Given the description of an element on the screen output the (x, y) to click on. 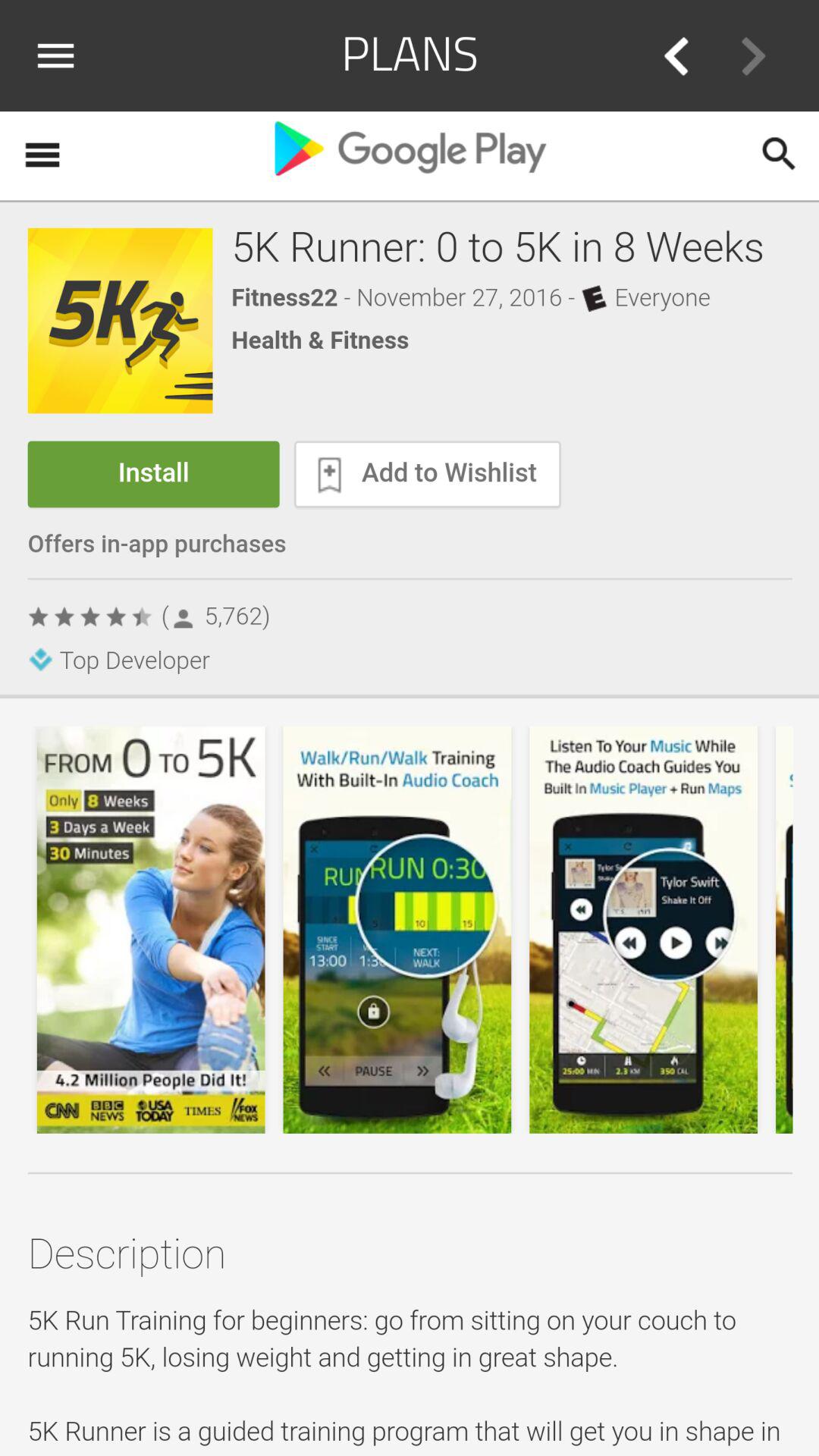
go back (675, 55)
